Given the description of an element on the screen output the (x, y) to click on. 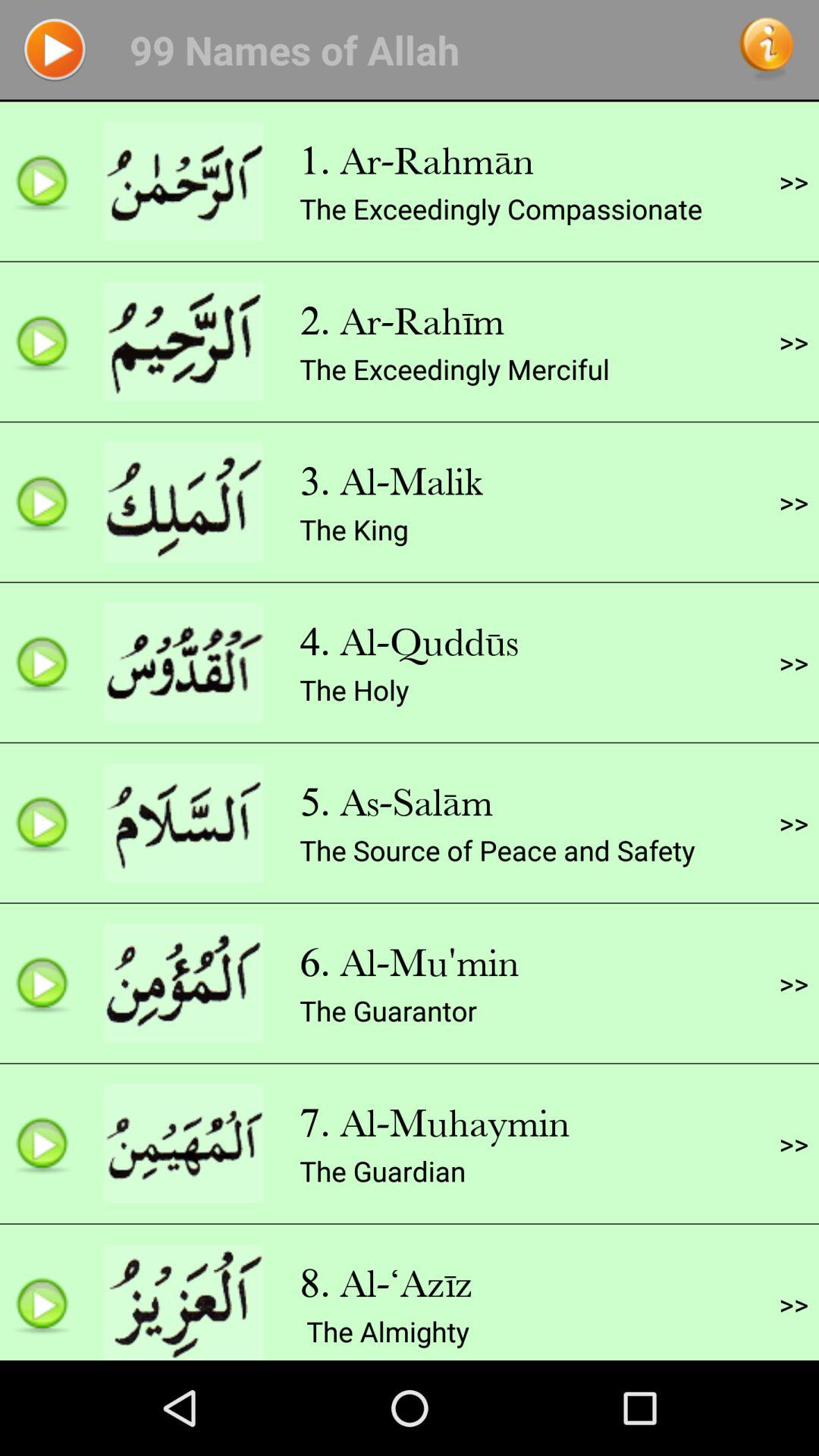
press icon above >> item (793, 341)
